Given the description of an element on the screen output the (x, y) to click on. 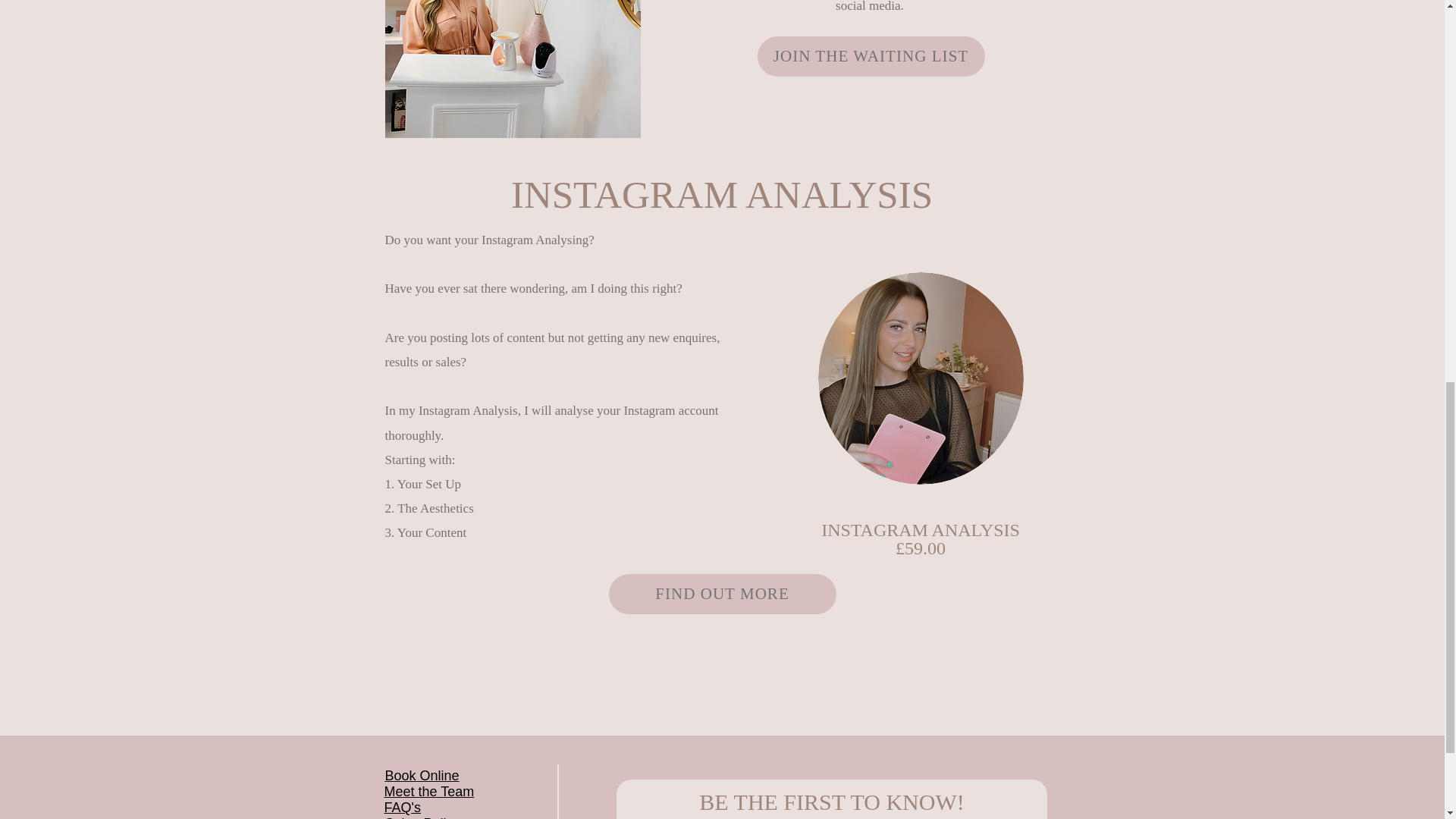
FIND OUT MORE (721, 594)
Book Online (422, 775)
guy3.jpg (919, 377)
Salon Policy (422, 817)
Meet the Team (429, 791)
JOIN THE WAITING LIST (870, 56)
FAQ's (402, 807)
